Given the description of an element on the screen output the (x, y) to click on. 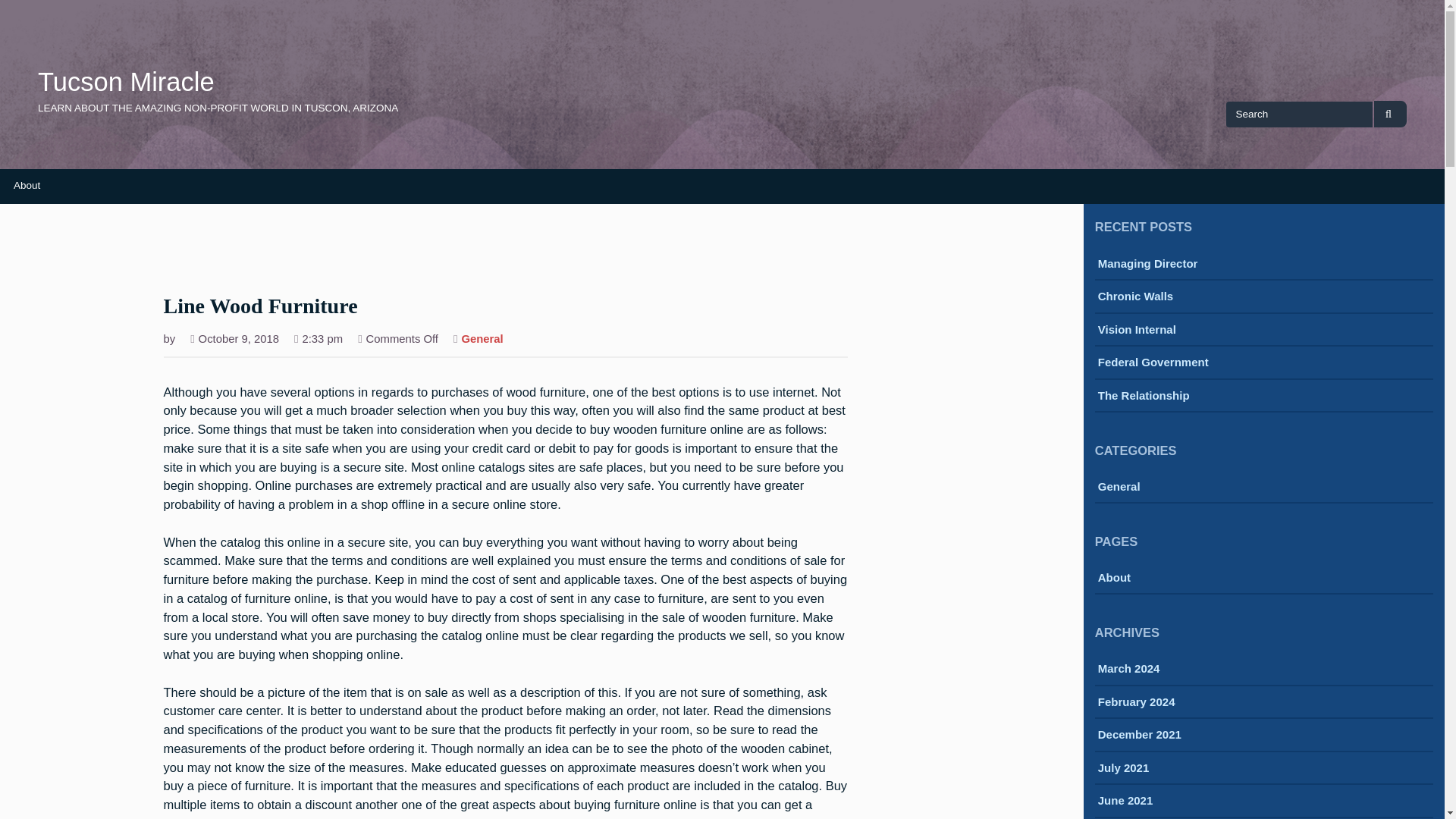
General (1118, 487)
About (26, 185)
July 2021 (1123, 769)
June 2021 (1125, 801)
Federal Government (1152, 363)
Chronic Walls (1135, 297)
Search (1390, 113)
December 2021 (1138, 735)
General (481, 340)
The Relationship (1143, 396)
February 2024 (1135, 703)
Tucson Miracle (125, 81)
Vision Internal (1136, 330)
March 2024 (1128, 669)
Managing Director (1147, 264)
